Given the description of an element on the screen output the (x, y) to click on. 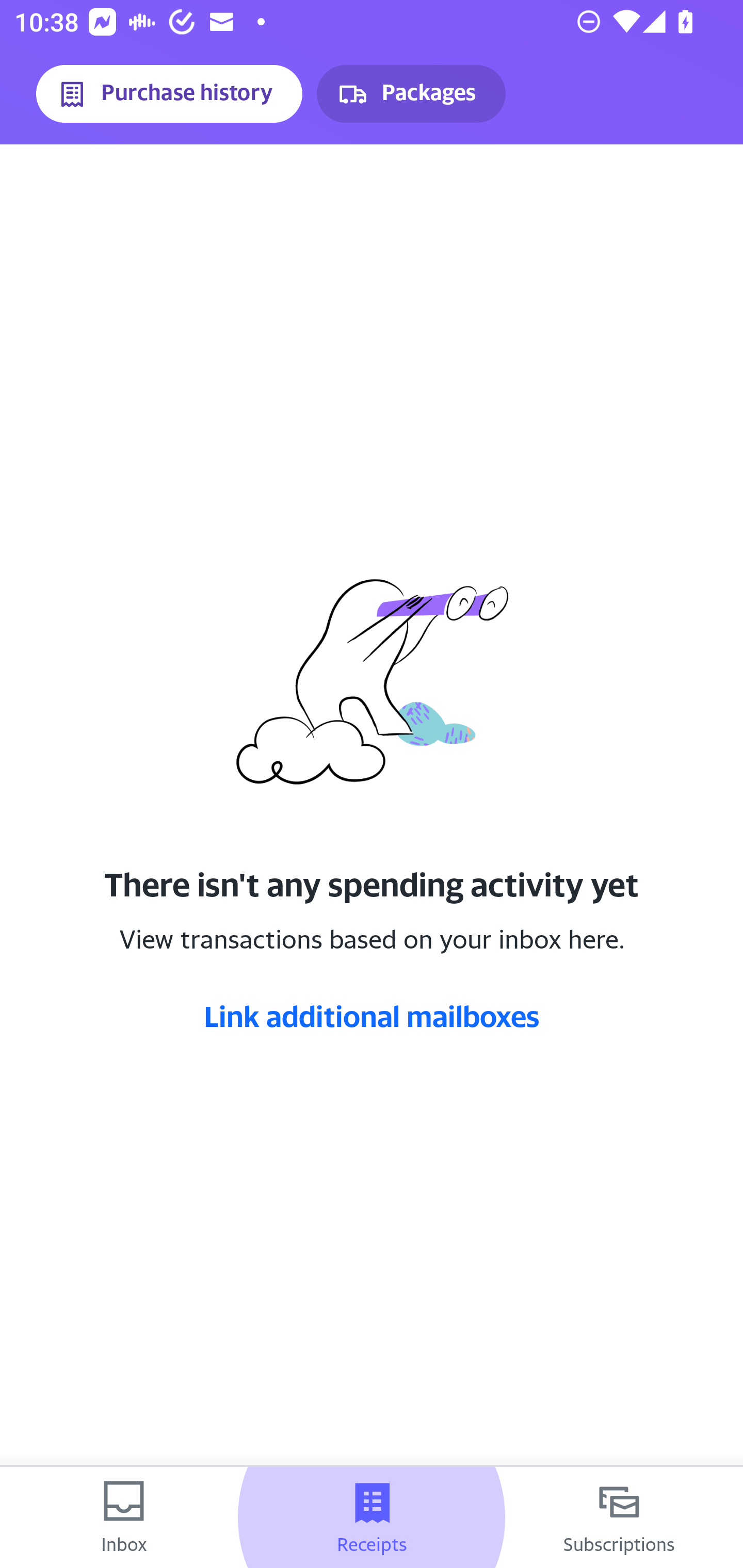
Packages (410, 93)
Link additional mailboxes (371, 1015)
Inbox (123, 1517)
Receipts (371, 1517)
Subscriptions (619, 1517)
